Given the description of an element on the screen output the (x, y) to click on. 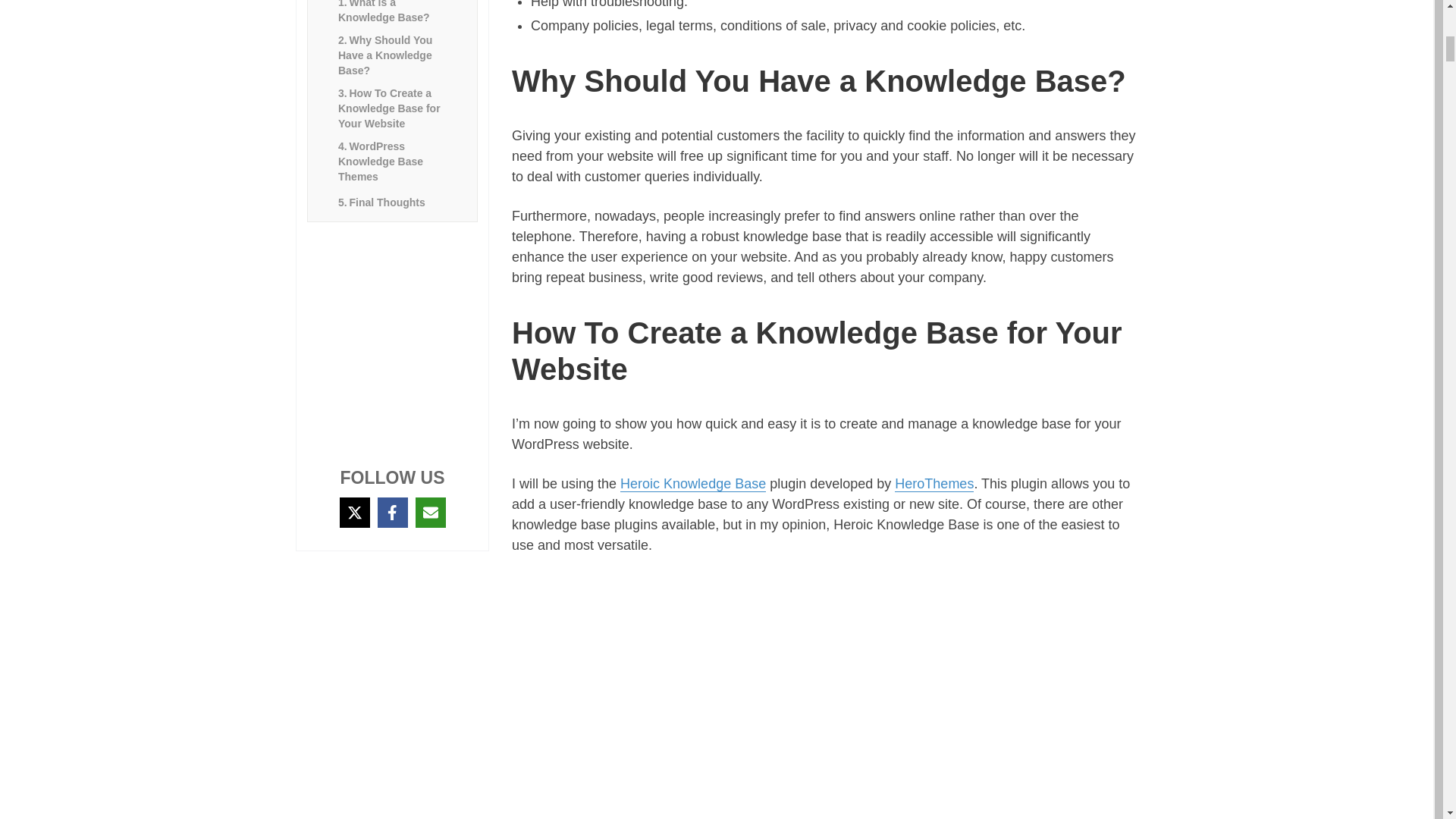
What is a Knowledge Base? (392, 12)
How To Create a Knowledge Base for Your Website (392, 108)
What is a Knowledge Base? (392, 12)
Why Should You Have a Knowledge Base? (392, 54)
